Given the description of an element on the screen output the (x, y) to click on. 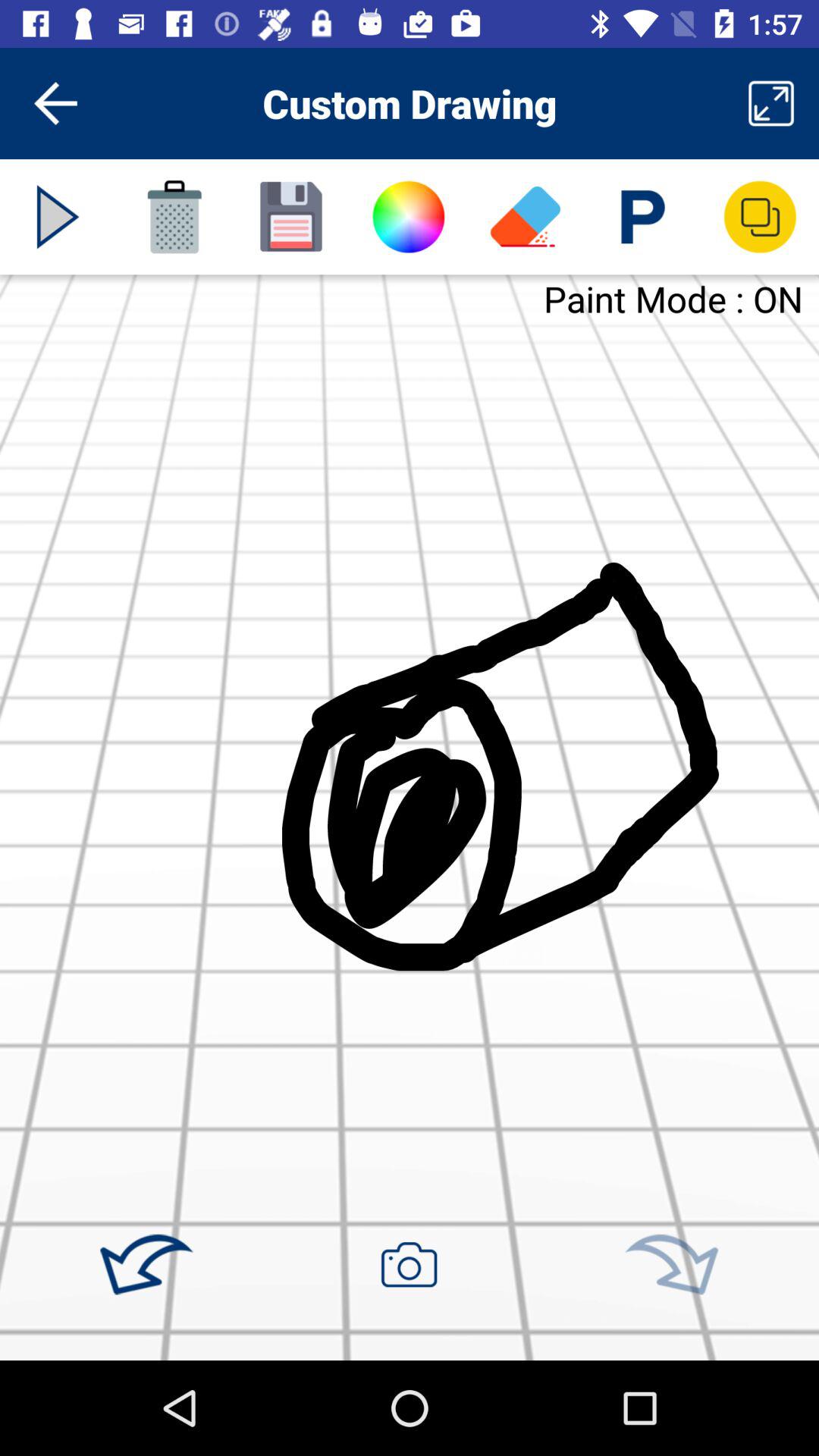
redo step (671, 1264)
